Given the description of an element on the screen output the (x, y) to click on. 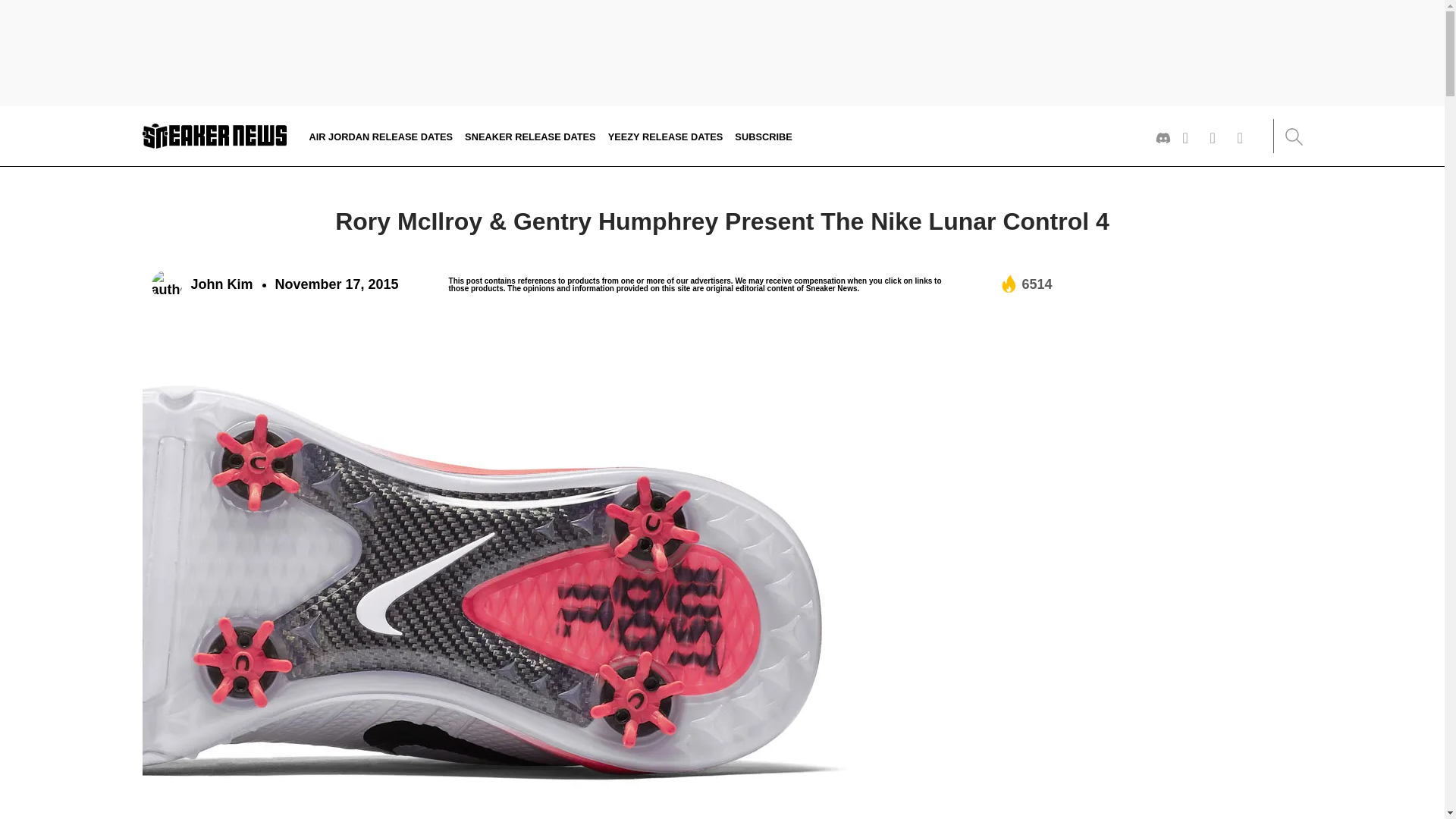
Instagram (1217, 137)
YEEZY RELEASE DATES (665, 135)
John Kim (202, 285)
Facebook (1244, 137)
Twitter (1190, 137)
Skip to main content (4, 121)
SNEAKER RELEASE DATES (529, 135)
Search (1292, 136)
Discord (1163, 137)
AIR JORDAN RELEASE DATES (380, 135)
SUBSCRIBE (763, 135)
